Given the description of an element on the screen output the (x, y) to click on. 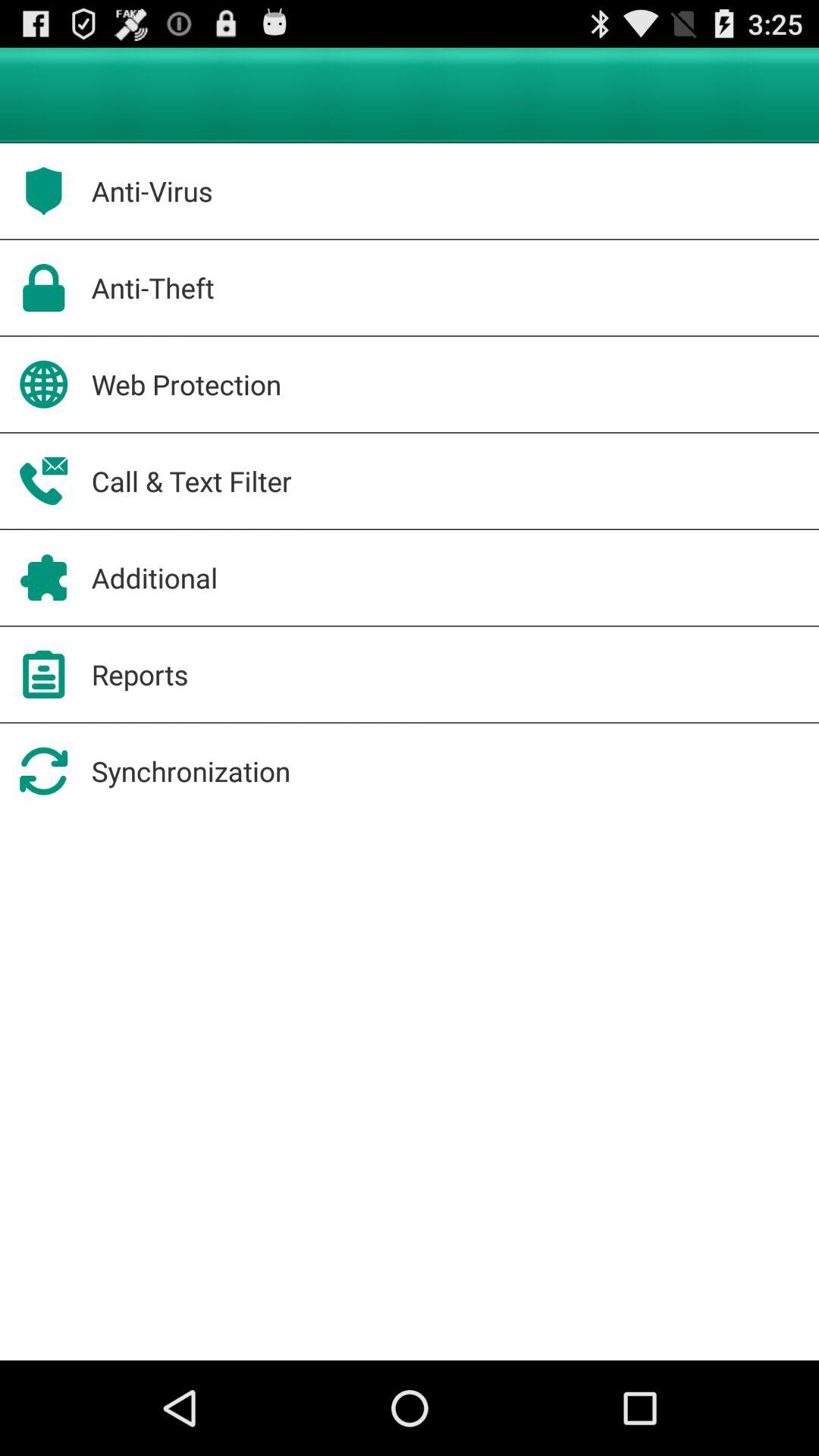
turn off anti-virus icon (151, 190)
